Given the description of an element on the screen output the (x, y) to click on. 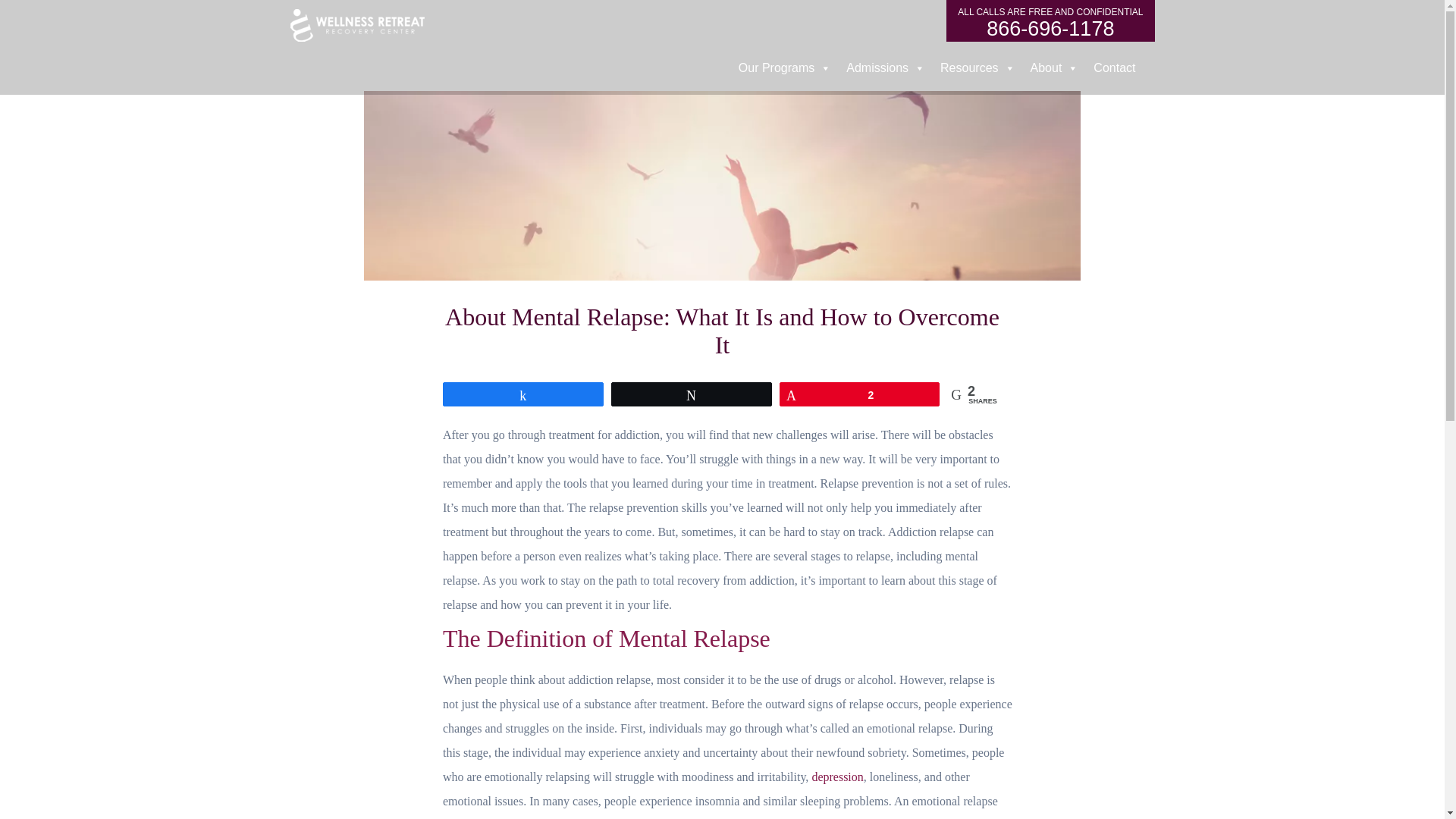
866-696-1178 (1050, 20)
Admissions (885, 68)
Wellness Retreat Recovery (356, 27)
Our Programs (784, 68)
